Given the description of an element on the screen output the (x, y) to click on. 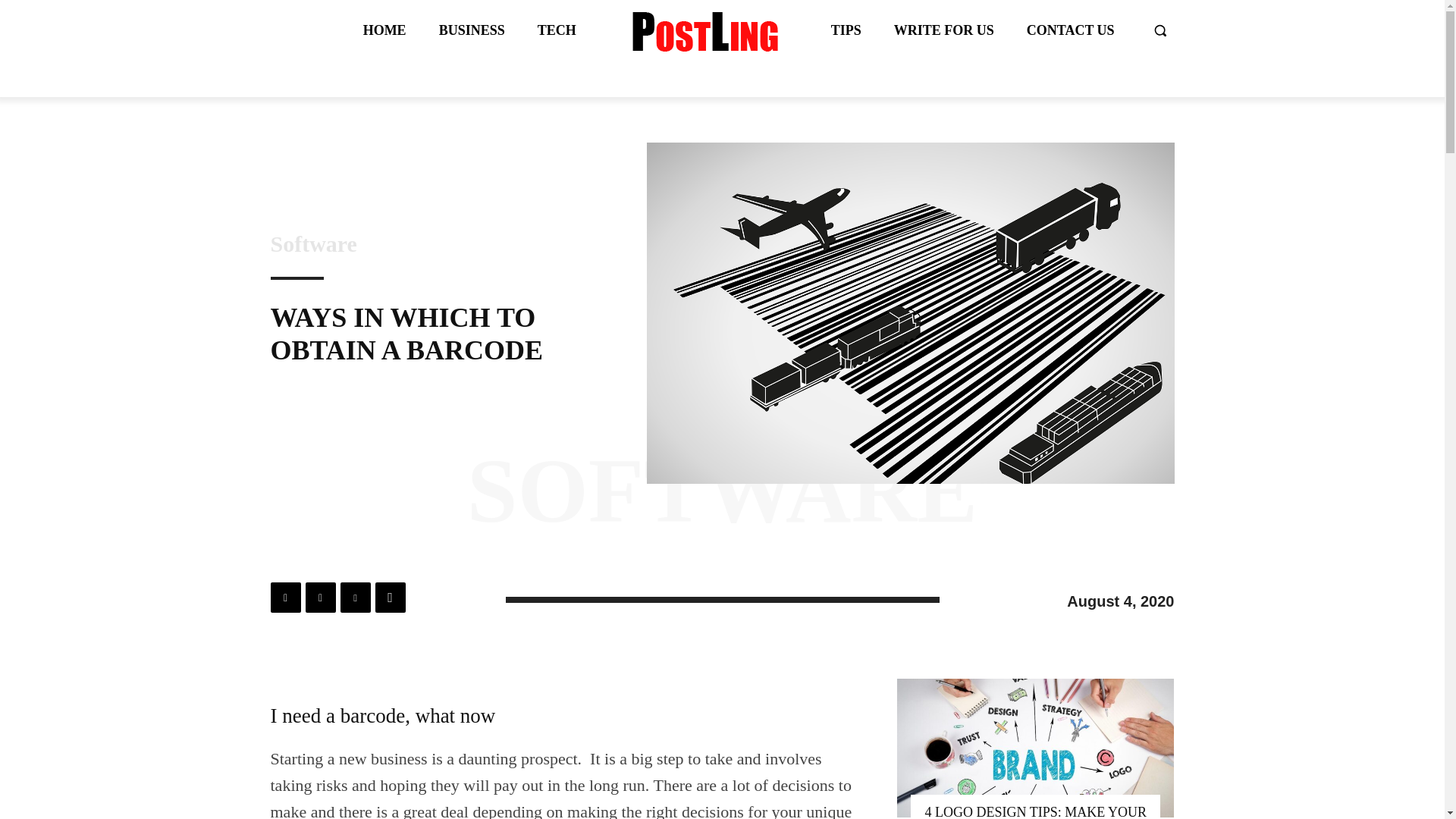
Facebook (284, 597)
Twitter (319, 597)
Pinterest (354, 597)
TECH (556, 30)
SOFTWARE (721, 491)
HOME (384, 30)
Software (312, 243)
WhatsApp (389, 597)
WRITE FOR US (943, 30)
CONTACT US (1070, 30)
